Given the description of an element on the screen output the (x, y) to click on. 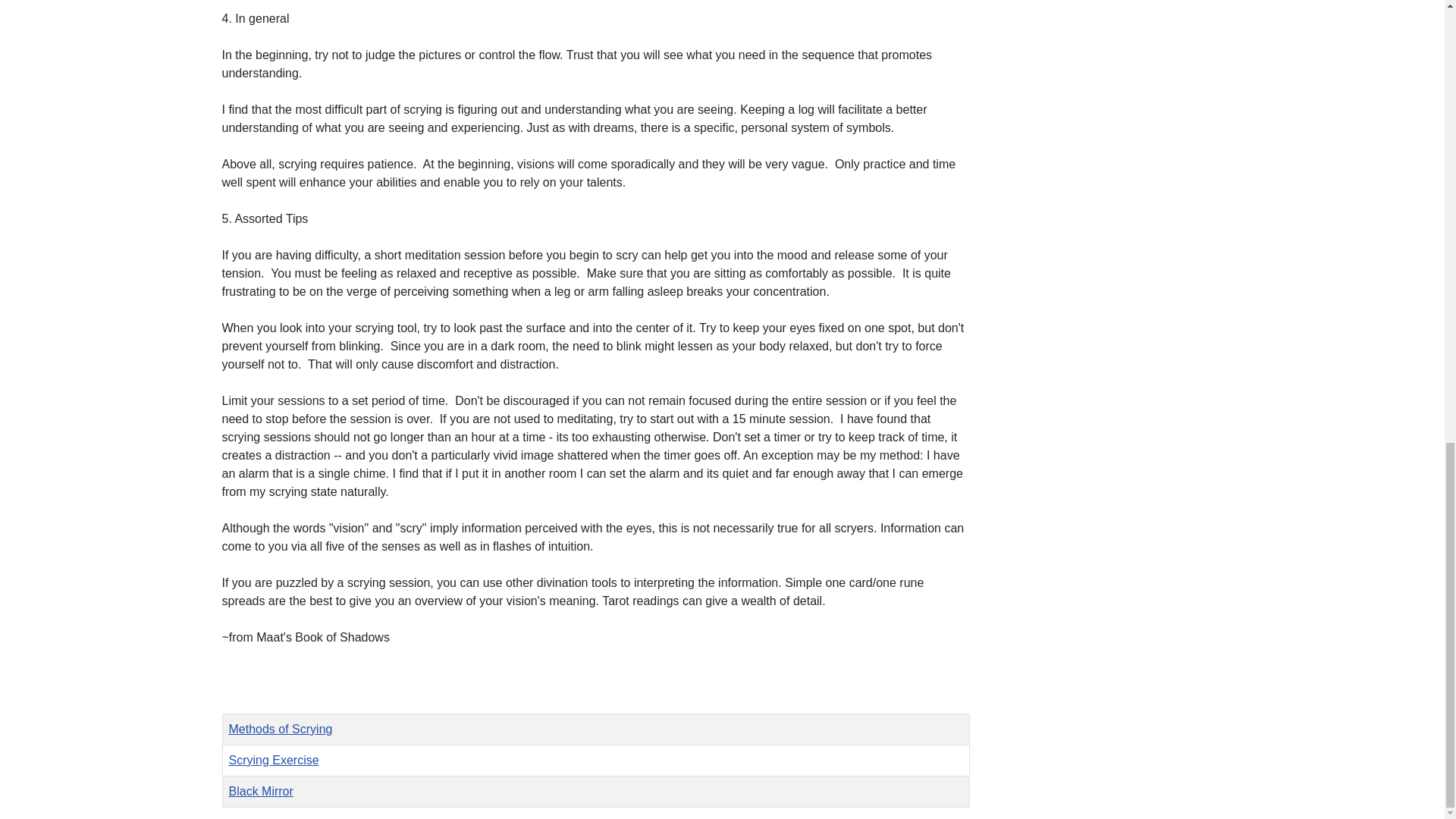
Black Mirror (261, 790)
Methods of Scrying (280, 728)
Scrying Exercise (273, 759)
